Given the description of an element on the screen output the (x, y) to click on. 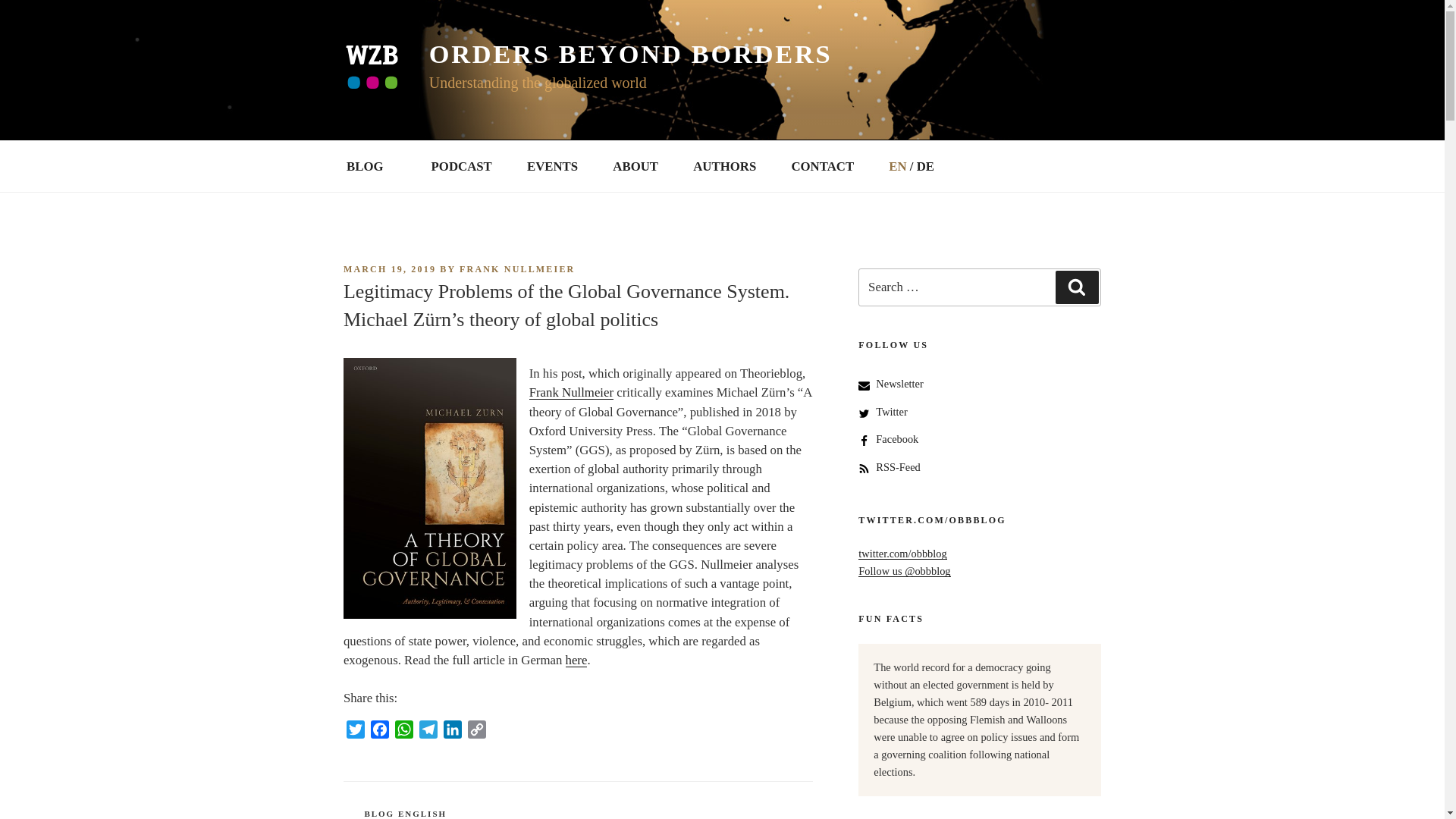
Search (1077, 286)
BLOG (371, 165)
Posts by Frank Nullmeier (517, 268)
LinkedIn (452, 731)
Newsletter (899, 383)
Twitter (355, 731)
WhatsApp (403, 731)
EN (892, 165)
WhatsApp (403, 731)
CONTACT (821, 165)
